Given the description of an element on the screen output the (x, y) to click on. 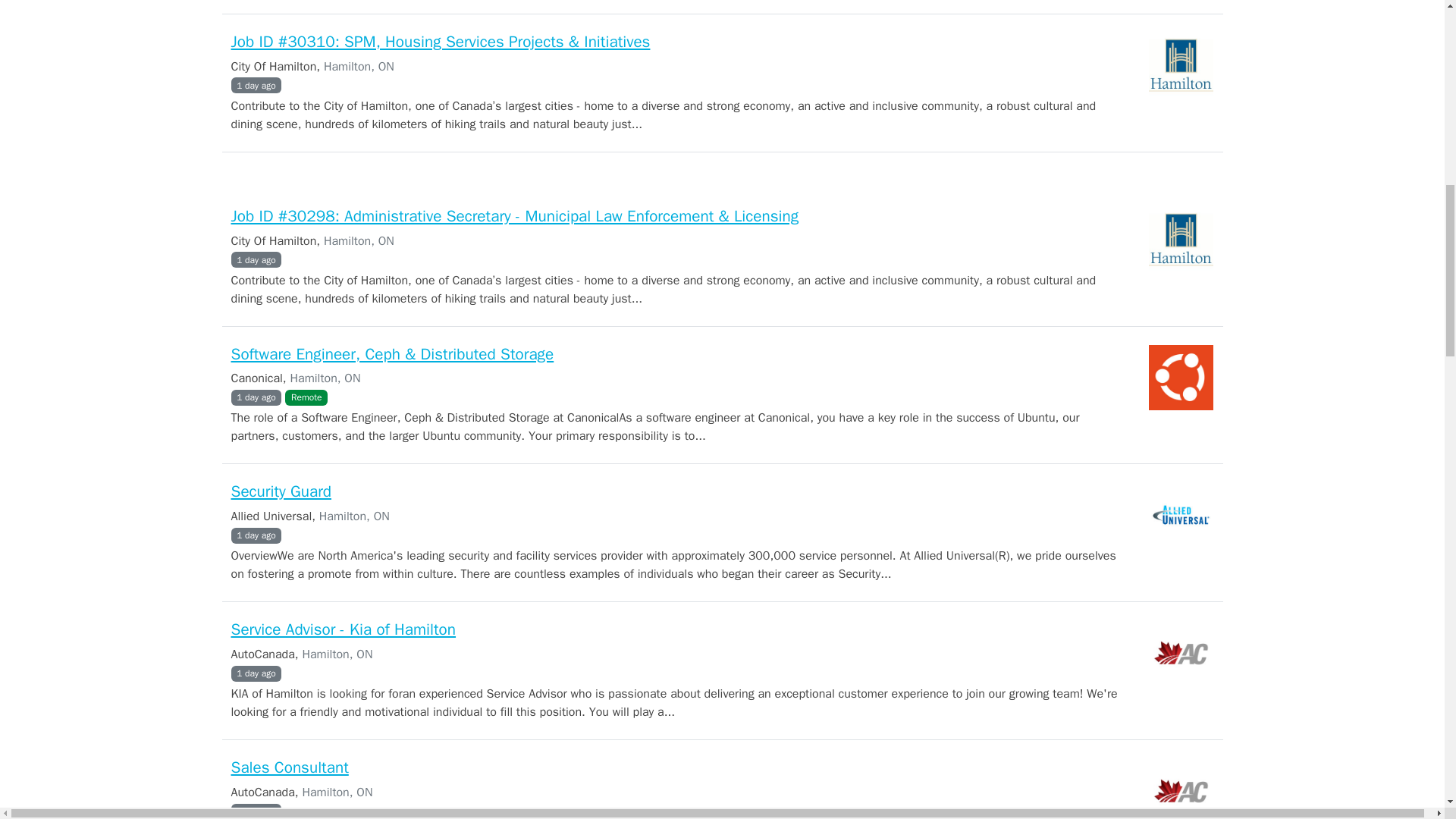
Security Guard (280, 491)
Service Advisor - Kia of Hamilton (342, 629)
Sales Consultant (288, 767)
